Given the description of an element on the screen output the (x, y) to click on. 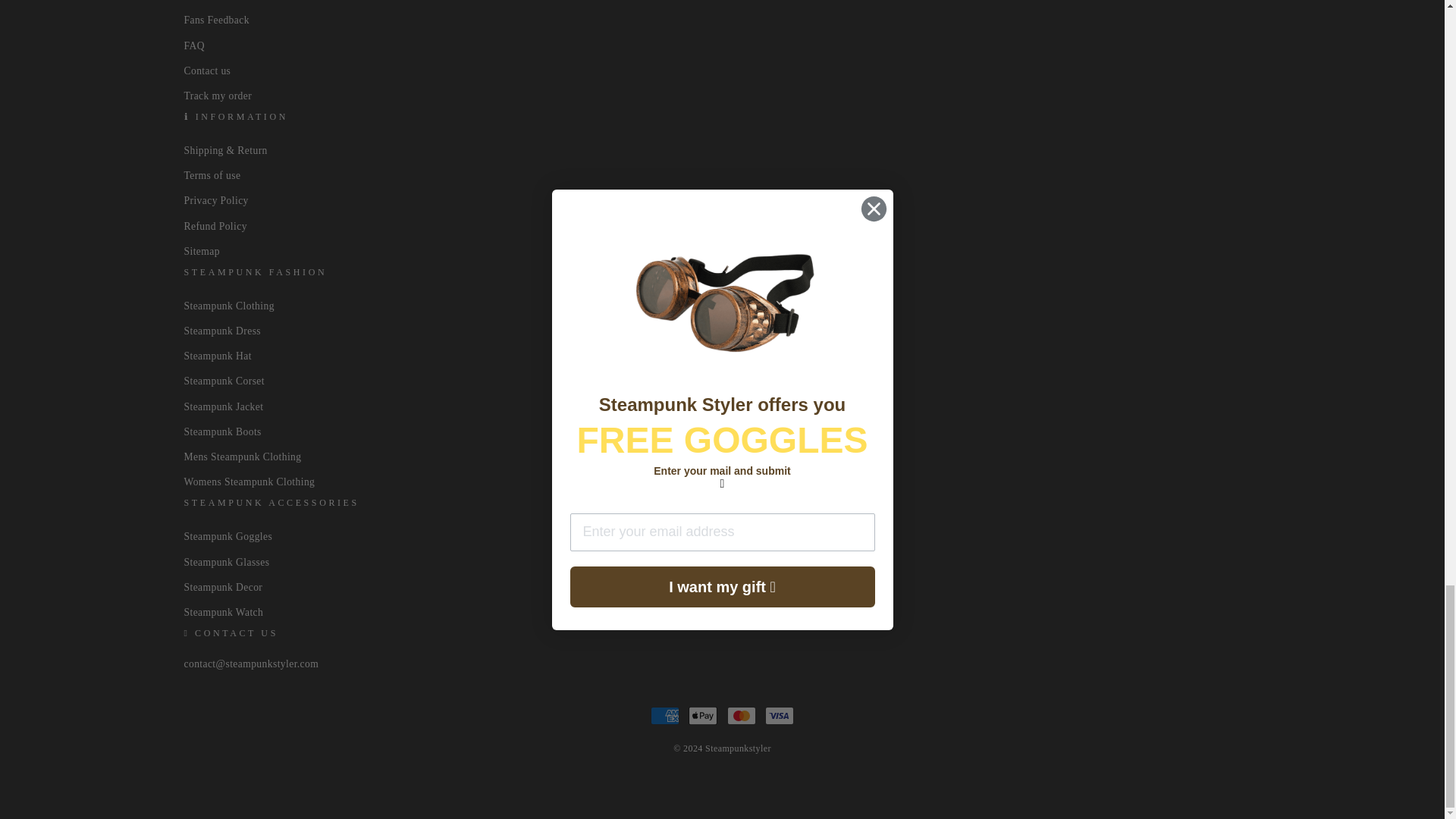
American Express (664, 715)
Visa (779, 715)
Mastercard (740, 715)
Apple Pay (702, 715)
